Given the description of an element on the screen output the (x, y) to click on. 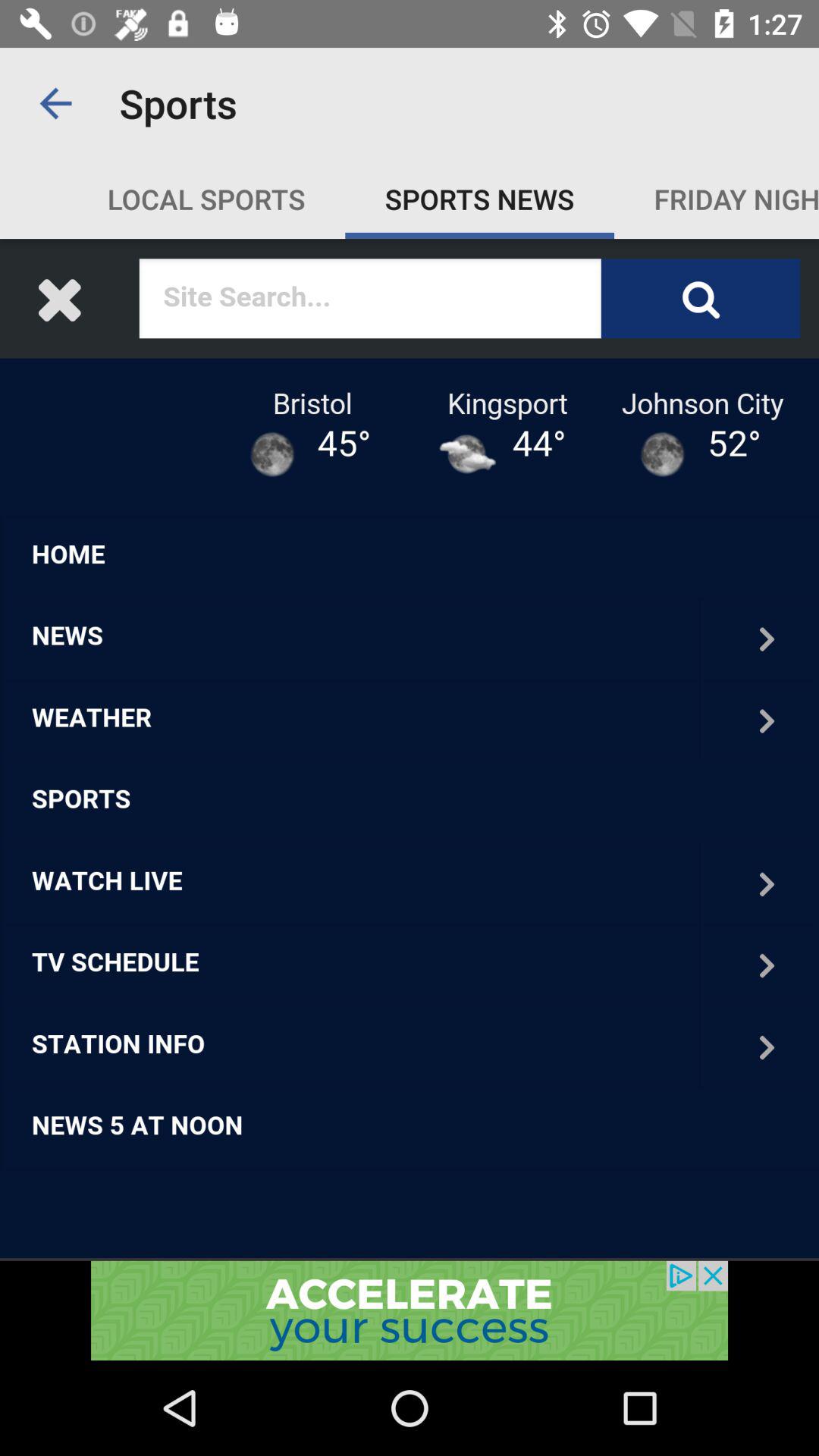
advertisement (409, 1310)
